Given the description of an element on the screen output the (x, y) to click on. 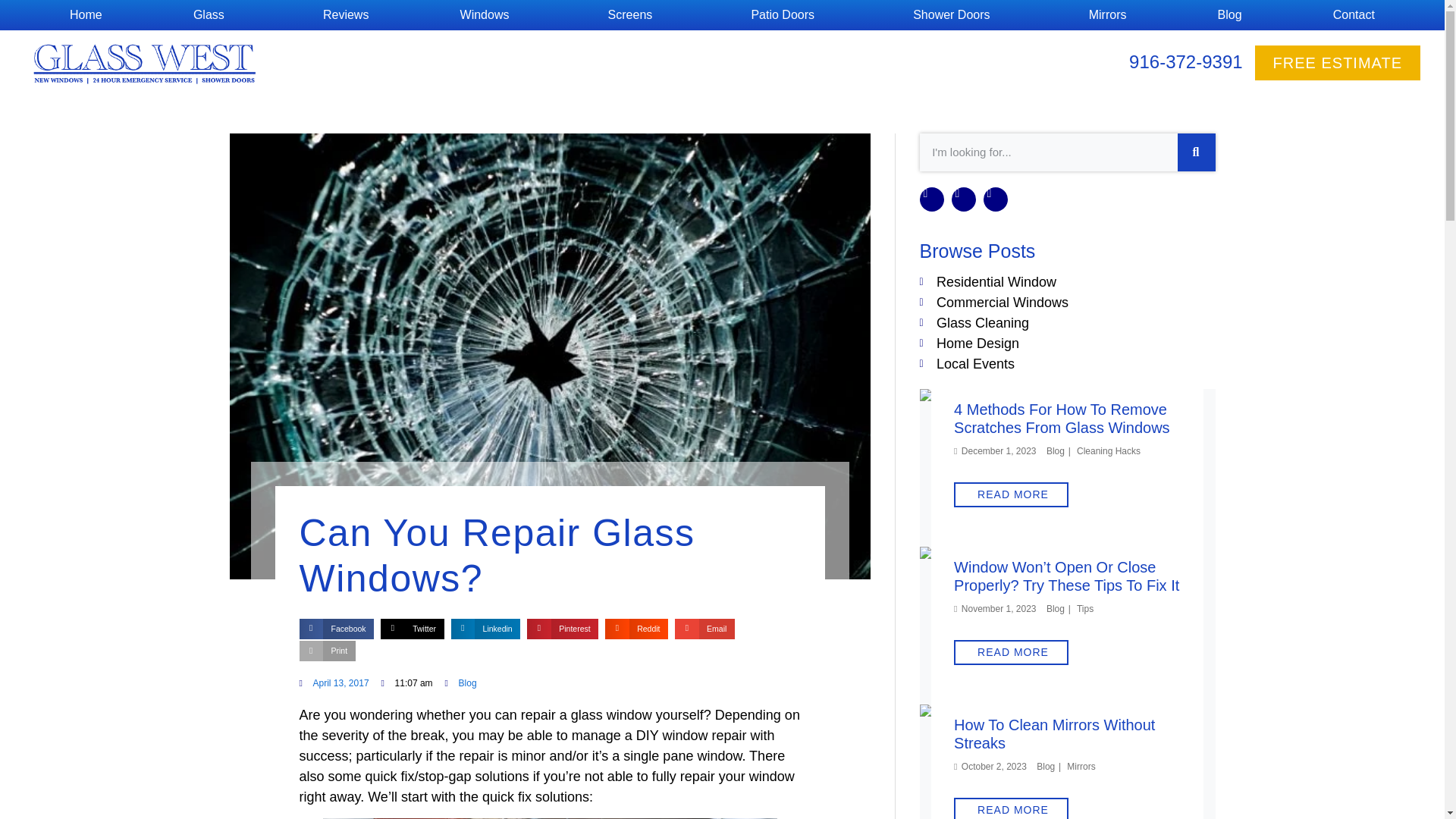
Shower Doors (955, 14)
Facebook (336, 629)
Mirrors (1107, 14)
Contact (1354, 14)
Blog (1229, 14)
Windows (487, 14)
Home (86, 14)
Twitter (411, 629)
Glass (213, 14)
4 Methods for How to Remove Scratches from Glass Windows (1039, 398)
Screens (634, 14)
Pinterest (562, 629)
Reddit (636, 629)
FREE ESTIMATE (1338, 62)
How to Clean Mirrors Without Streaks (1033, 713)
